Given the description of an element on the screen output the (x, y) to click on. 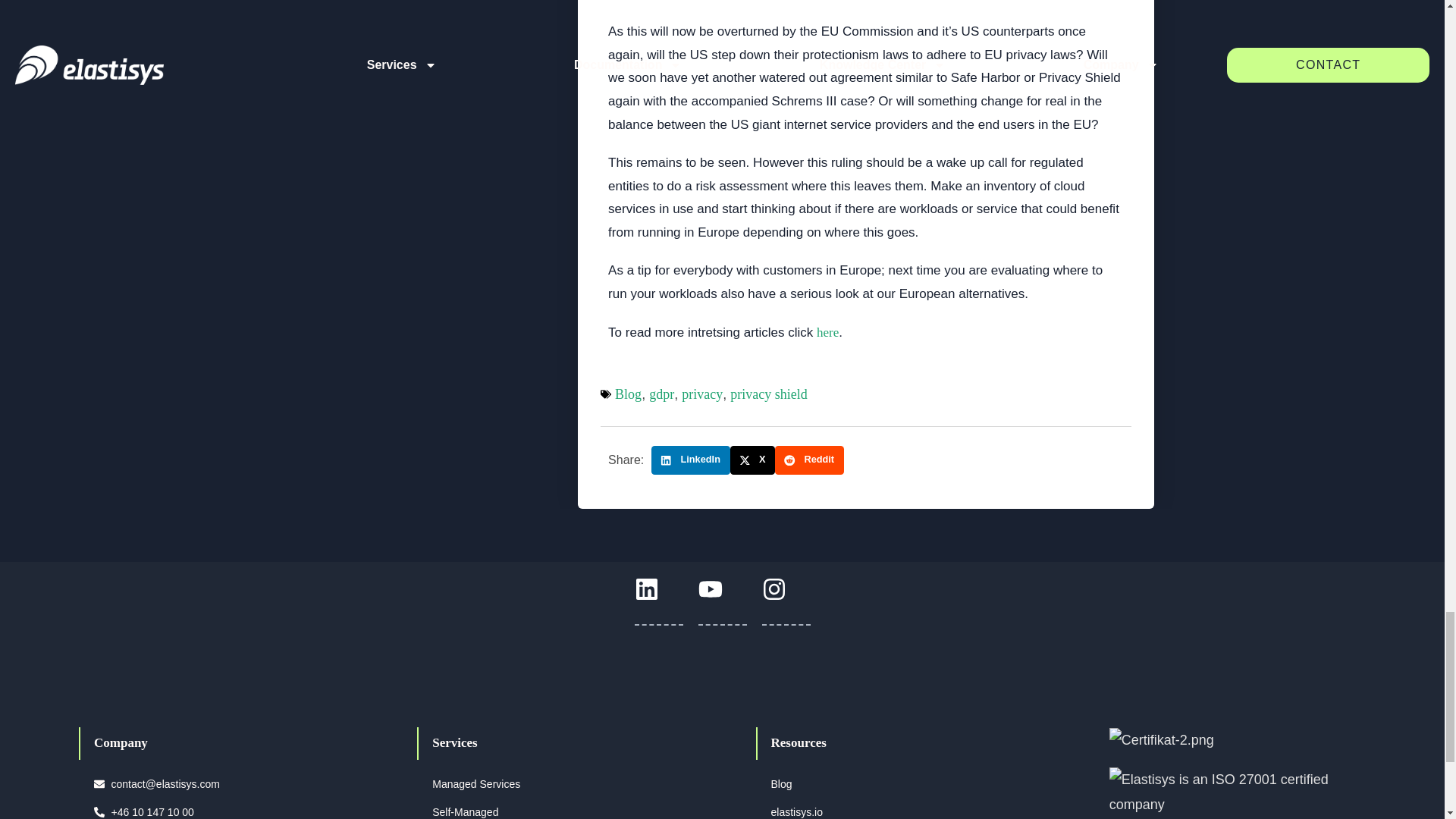
ISO 27001 Horizontal En (1230, 791)
Certifikat-2.png (1161, 740)
